Given the description of an element on the screen output the (x, y) to click on. 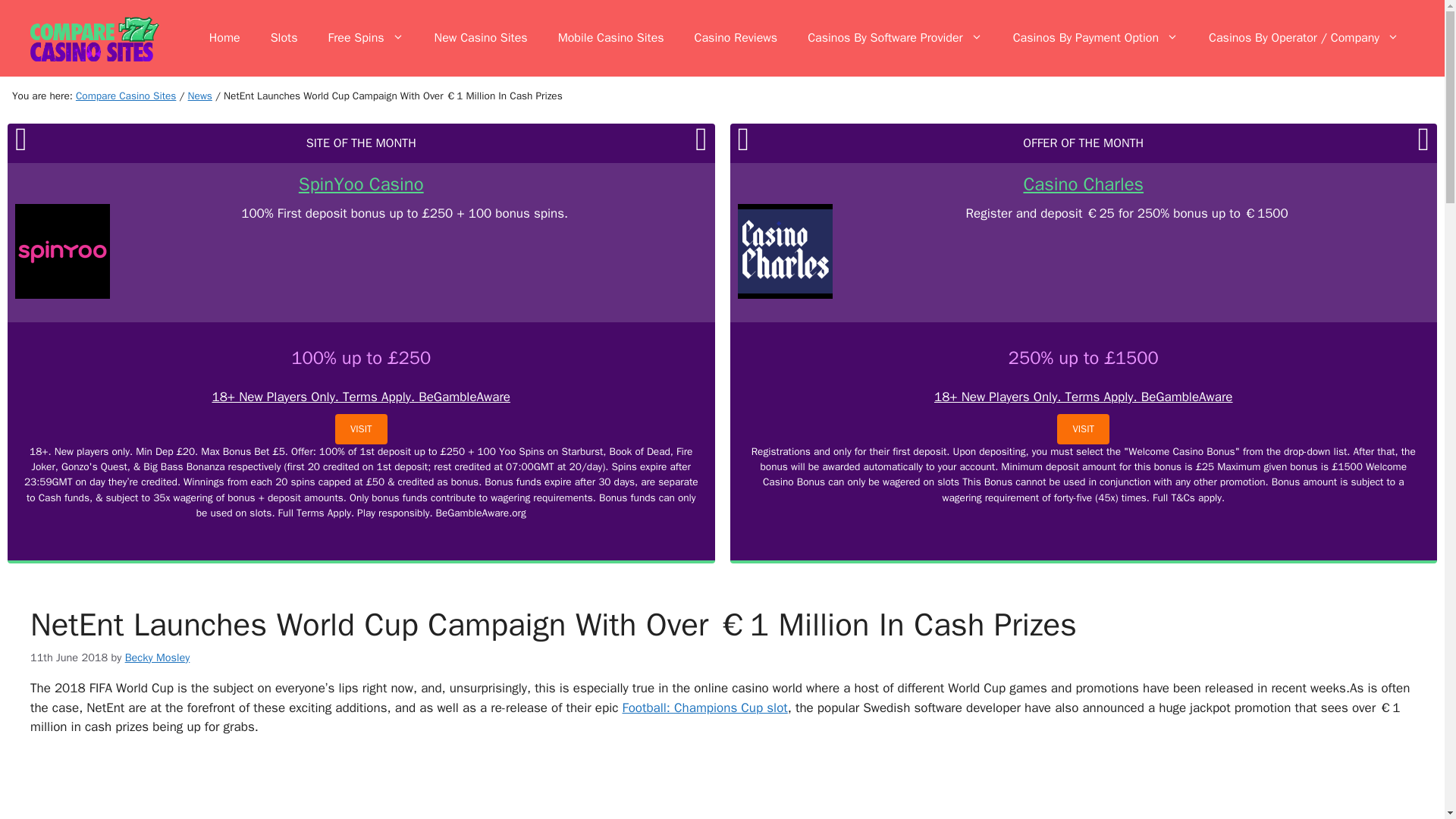
News (199, 95)
New Casino Sites (481, 37)
Item (199, 95)
View all posts by Becky Mosley (157, 657)
Slots (284, 37)
Home (224, 37)
Casino Reviews (736, 37)
Free Spins (366, 37)
Mobile Casino Sites (611, 37)
Casinos By Software Provider (894, 37)
